Given the description of an element on the screen output the (x, y) to click on. 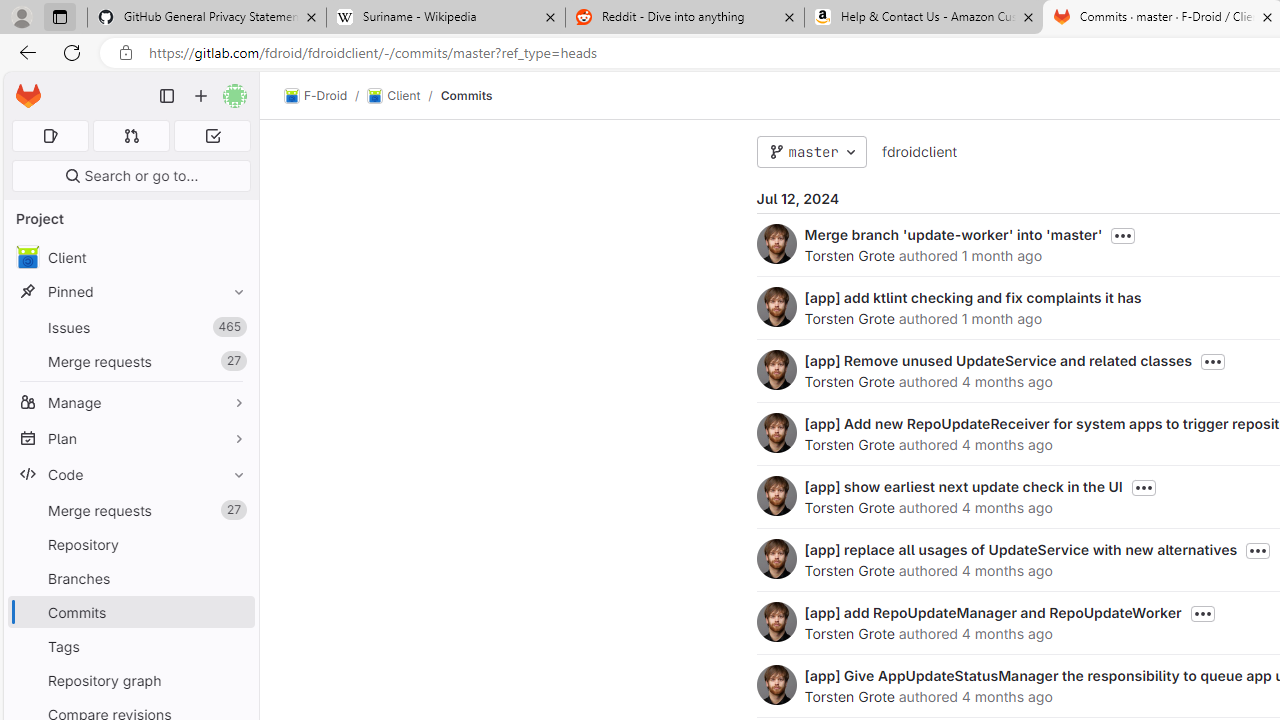
Pin Commits (234, 611)
Torsten Grote's avatar (776, 684)
Torsten Grote's avatar (776, 684)
Branches (130, 578)
Homepage (27, 96)
Merge requests 27 (130, 510)
[app] show earliest next update check in the UI (962, 486)
avatar (27, 257)
Commits (466, 95)
Client (130, 257)
Branches (130, 578)
Suriname - Wikipedia (445, 17)
Repository (130, 543)
[app] Remove unused UpdateService and related classes (997, 360)
Issues 465 (130, 327)
